Given the description of an element on the screen output the (x, y) to click on. 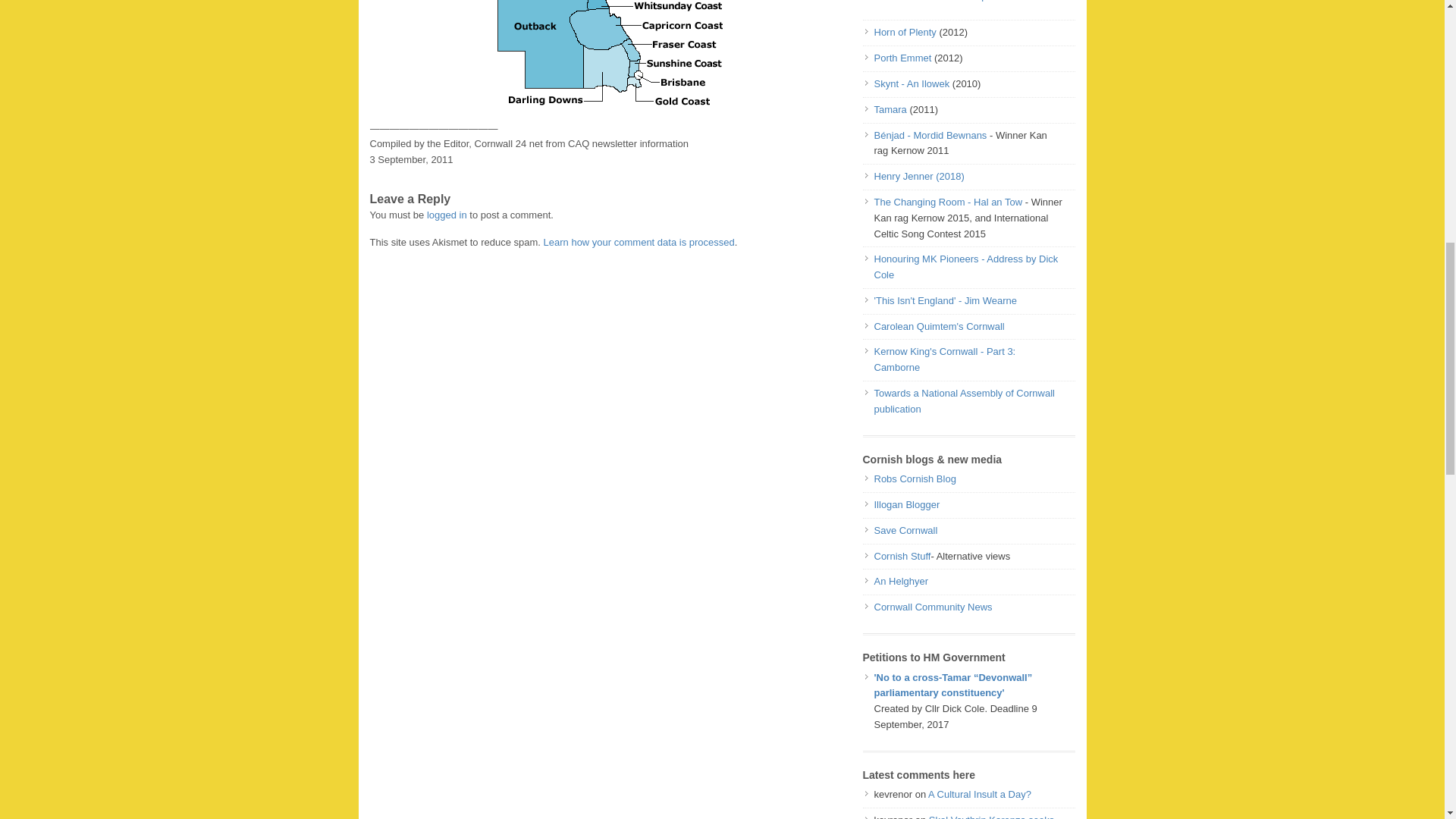
The Changing Room - Hal an Tow (949, 202)
Tamara (890, 109)
Honouring MK Pioneers - Address by Dick Cole (965, 266)
Learn how your comment data is processed (639, 242)
Horn of Plenty (906, 31)
Skynt - An Ilowek (911, 83)
Carolean Quimtem's Cornwall (938, 326)
logged in (446, 214)
2nd Cornish National Report (935, 0)
'This Isn't England' - Jim Wearne (944, 300)
Porth Emmet (902, 57)
